Given the description of an element on the screen output the (x, y) to click on. 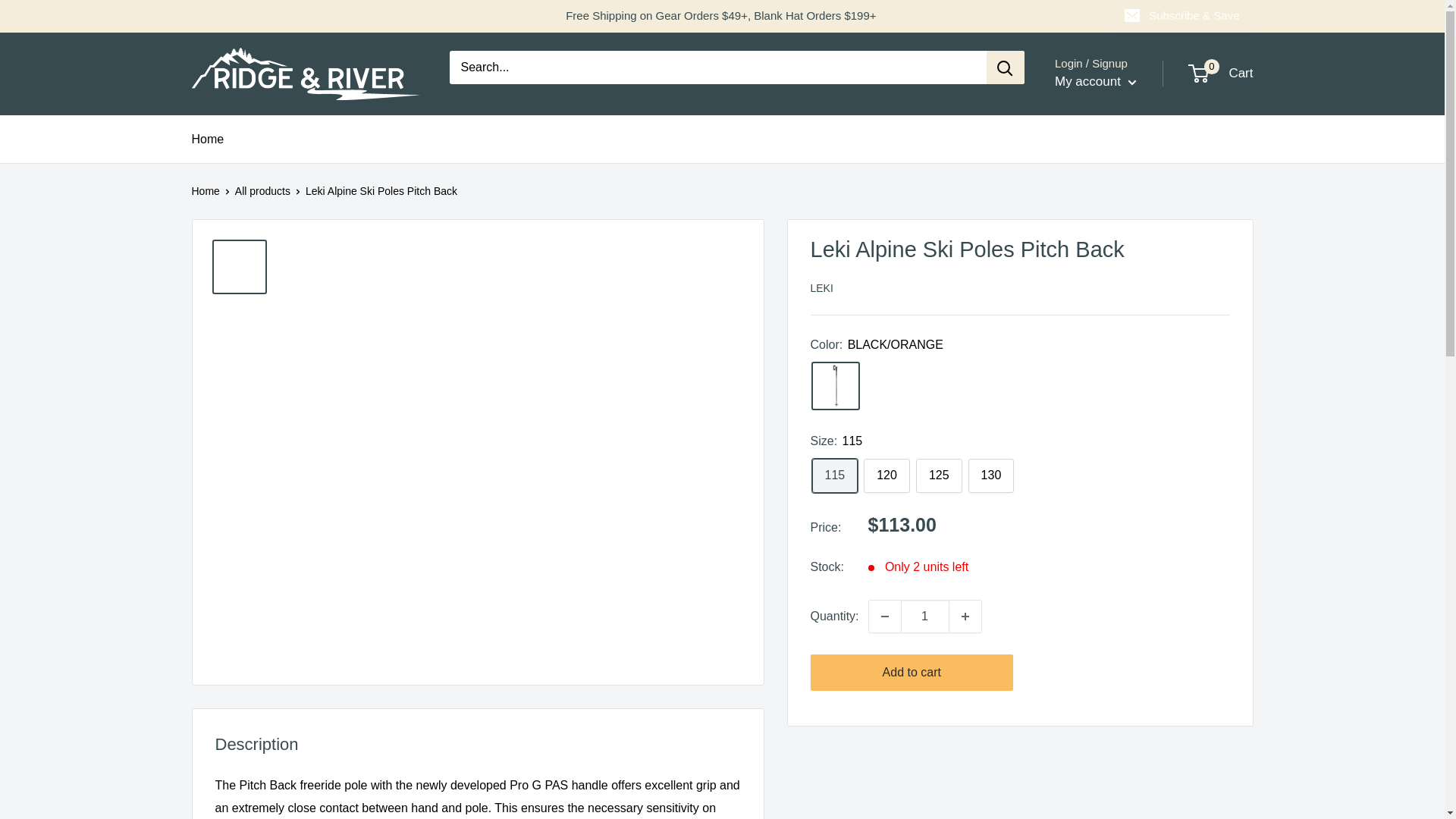
1 (925, 616)
Increase quantity by 1 (965, 616)
All products (261, 191)
Decrease quantity by 1 (885, 616)
My account (1095, 81)
130 (991, 475)
Home (207, 138)
LEKI (820, 287)
Add to cart (911, 672)
125 (938, 475)
120 (886, 475)
115 (833, 475)
Home (204, 191)
